Given the description of an element on the screen output the (x, y) to click on. 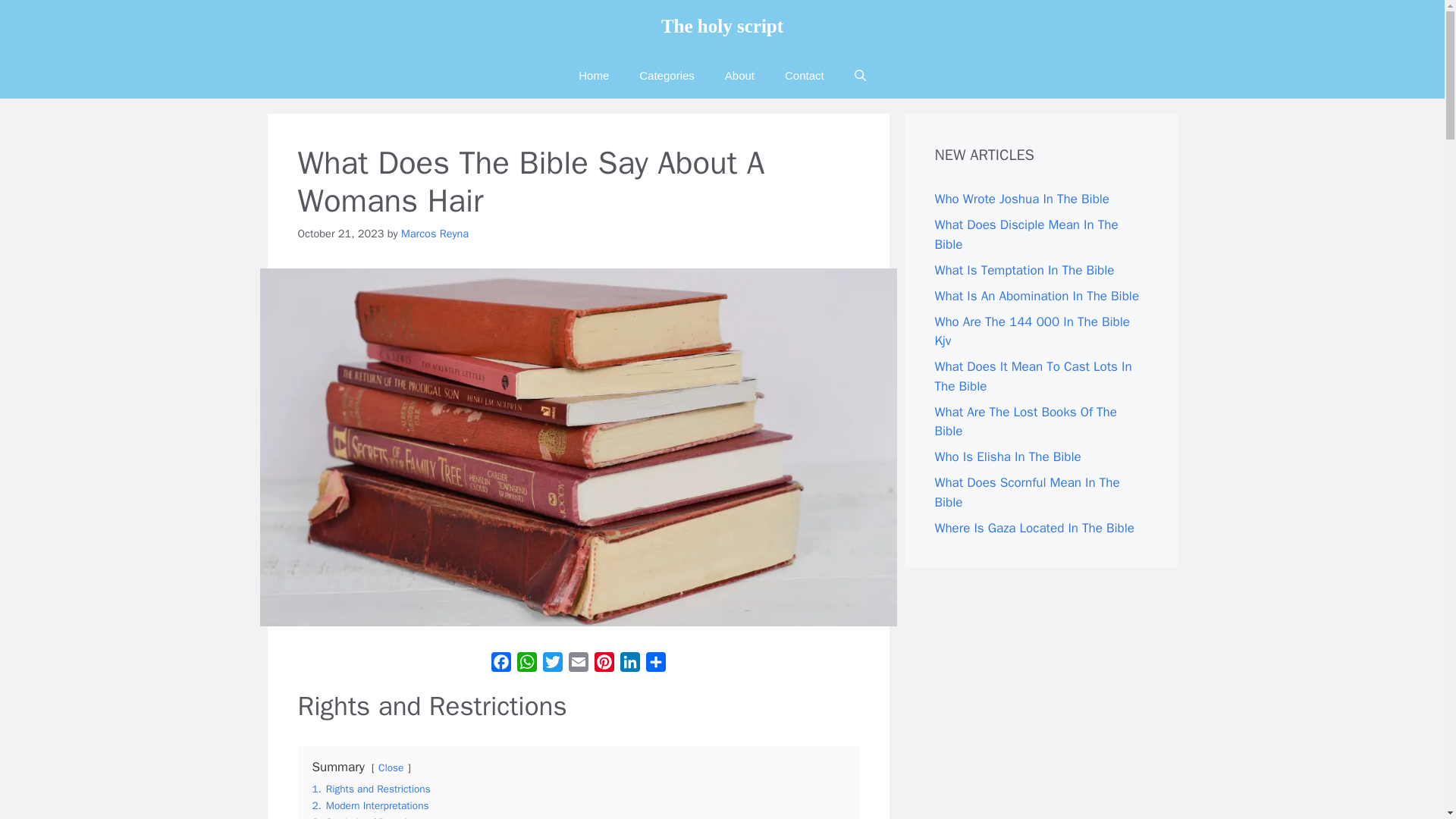
WhatsApp (526, 664)
Pinterest (604, 664)
Facebook (500, 664)
Home (593, 75)
WhatsApp (526, 664)
Marcos Reyna (434, 233)
Pinterest (604, 664)
Close (390, 767)
LinkedIn (630, 664)
1. Rights and Restrictions (371, 788)
About (740, 75)
3. Symbols of Devotion (366, 817)
View all posts by Marcos Reyna (434, 233)
Email (578, 664)
